Given the description of an element on the screen output the (x, y) to click on. 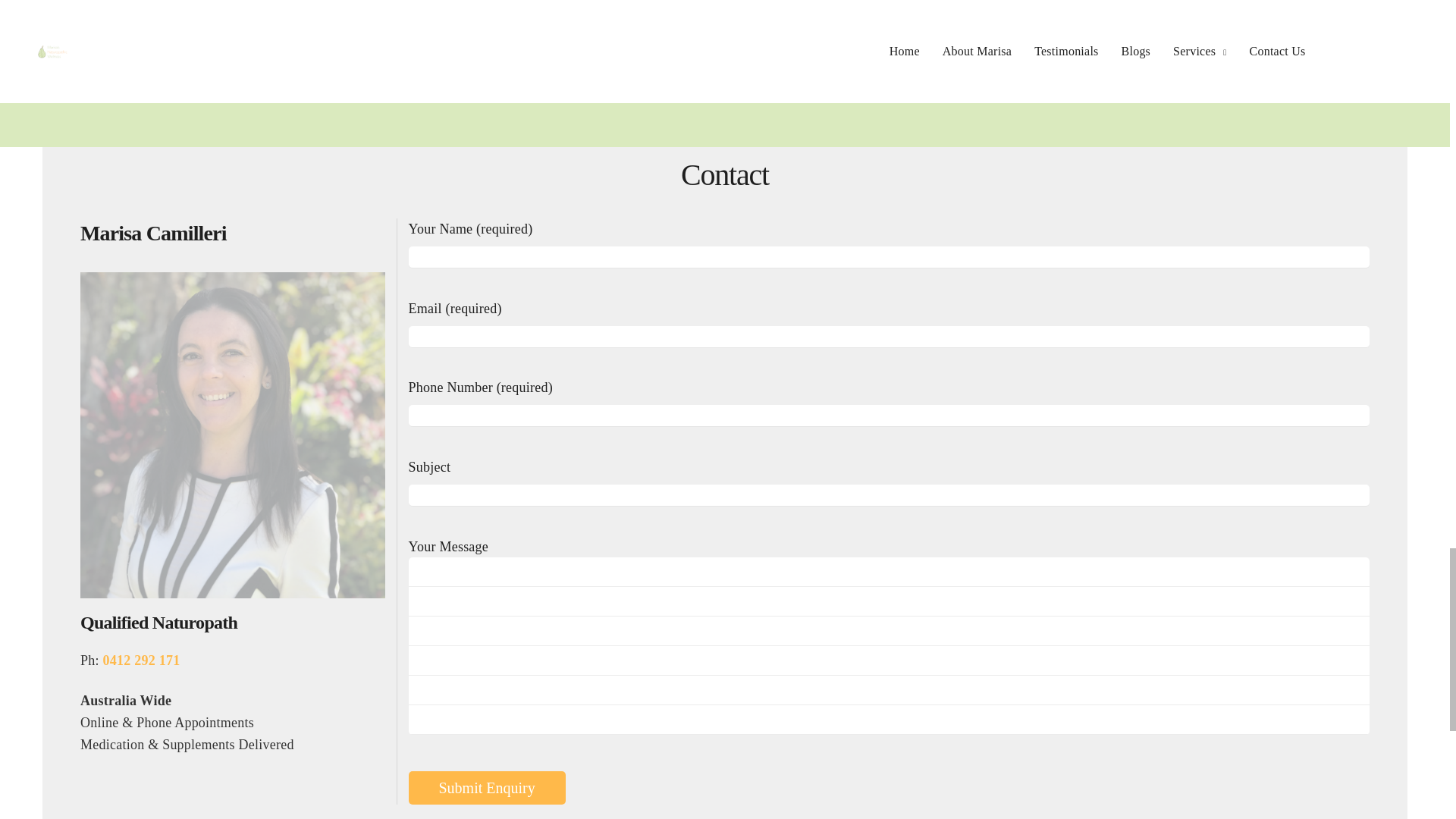
marisa (232, 434)
0412 292 171 (141, 660)
Submit Enquiry (485, 787)
Submit Enquiry (485, 787)
